Given the description of an element on the screen output the (x, y) to click on. 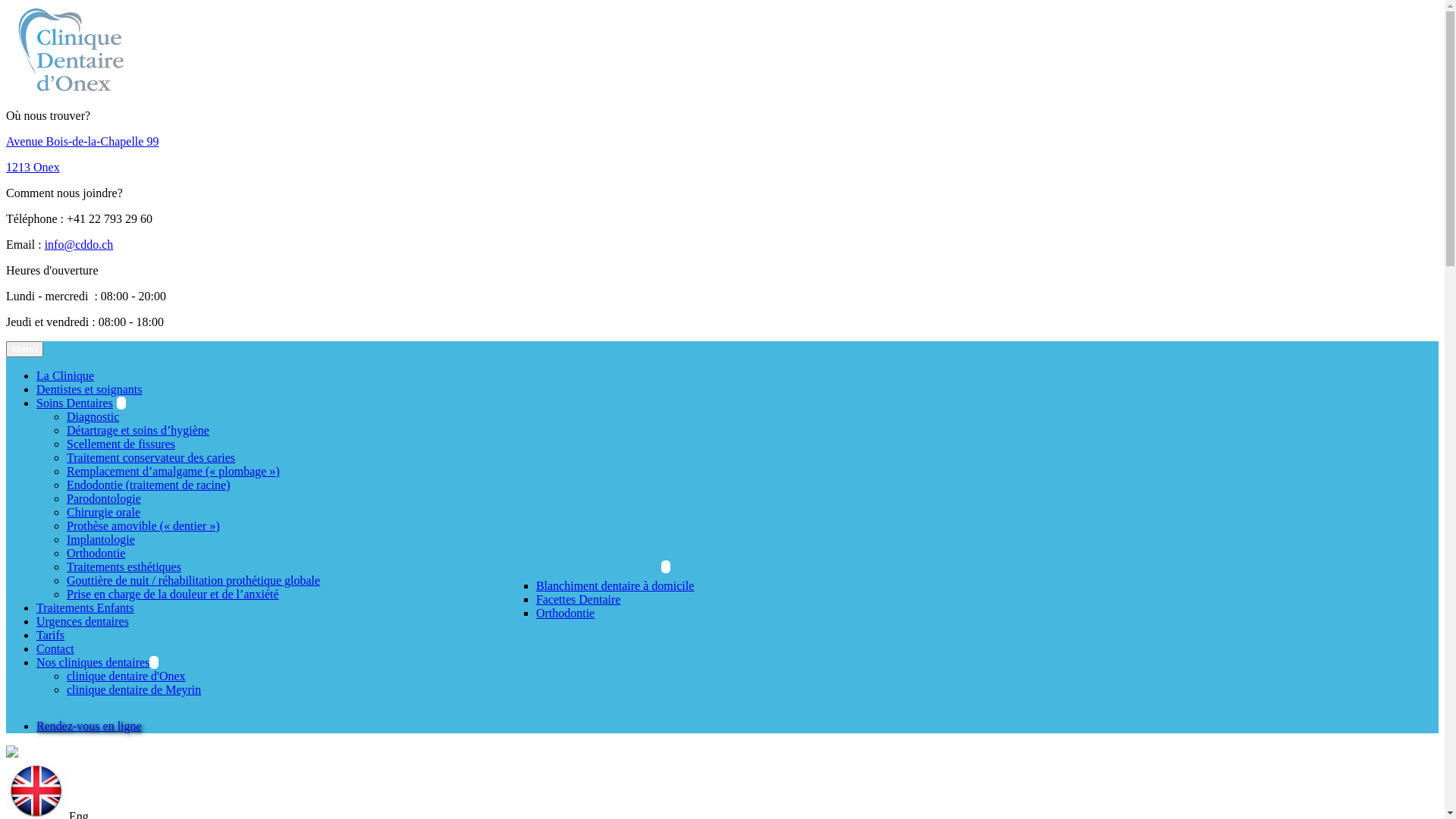
Traitement conservateur des caries Element type: text (150, 457)
Rendez-vous en ligne Element type: text (88, 725)
Contact Element type: text (55, 648)
La Clinique Element type: text (65, 375)
Soins Dentaires Element type: text (80, 402)
clinique dentaire de Meyrin Element type: text (133, 689)
Soins Dentaires Element type: text (74, 402)
Implantologie Element type: text (100, 539)
Nos cliniques dentaires Element type: text (97, 661)
Endodontie (traitement de racine) Element type: text (147, 484)
Facettes Dentaire Element type: text (578, 599)
Tarifs Element type: text (50, 634)
Menu Element type: text (24, 349)
Traitements Enfants Element type: text (85, 607)
clinique dentaire d'Onex Element type: text (125, 675)
Scellement de fissures Element type: text (120, 443)
Urgences dentaires Element type: text (82, 621)
Parodontologie Element type: text (103, 498)
Diagnostic Element type: text (92, 416)
info@cddo.ch Element type: text (78, 244)
Dentistes et soignants Element type: text (89, 388)
Avenue Bois-de-la-Chapelle 99
1213 Onex Element type: text (722, 154)
Orthodontie Element type: text (95, 552)
Chirurgie orale Element type: text (103, 511)
Orthodontie Element type: text (565, 612)
